Given the description of an element on the screen output the (x, y) to click on. 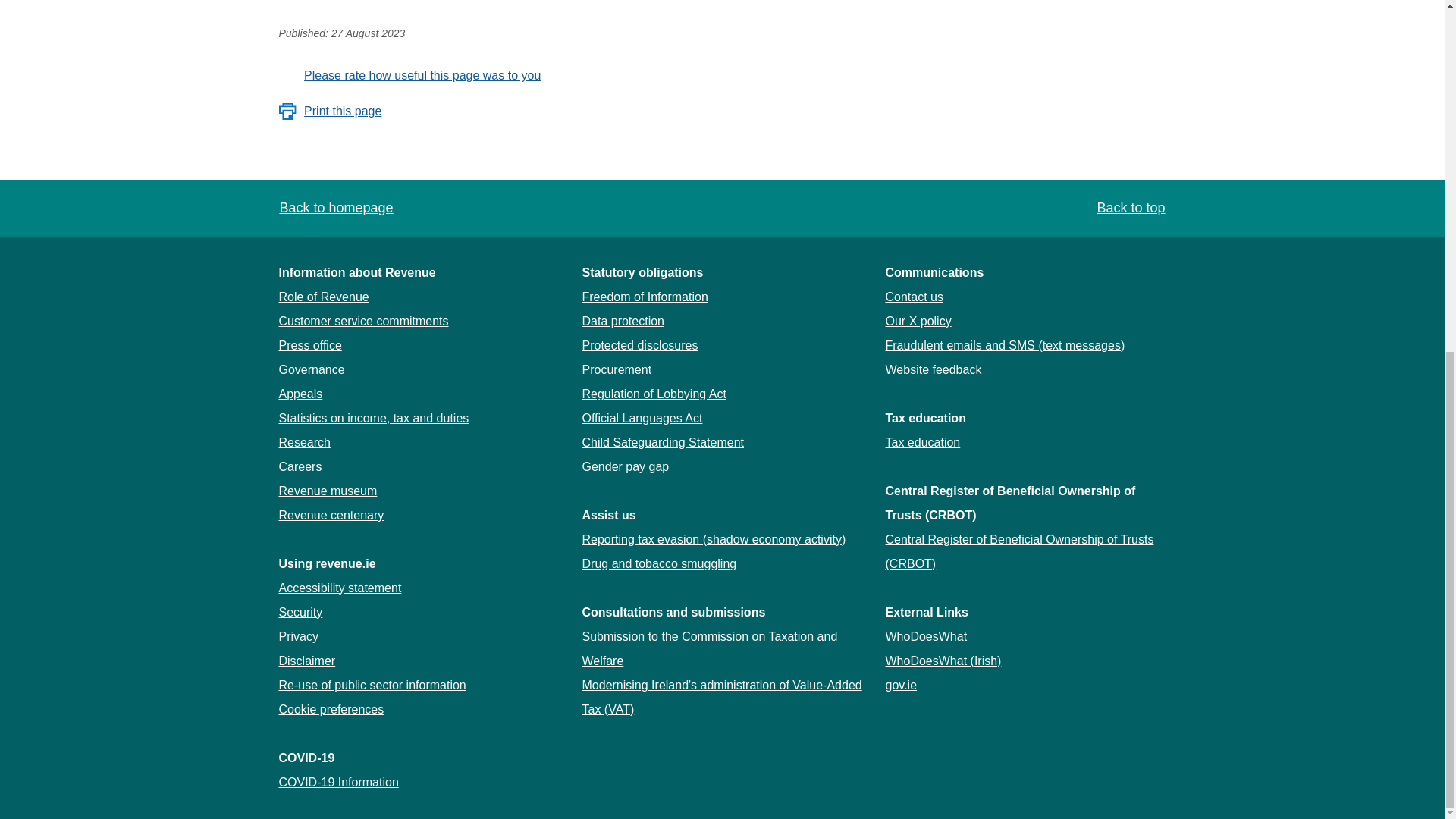
Customer service commitments (363, 319)
Customer service commitments (363, 319)
Careers (300, 465)
Revenue museum (328, 490)
Statistics on income, tax and duties (373, 417)
Security (301, 611)
Revenue centenary (331, 513)
Re-use of public sector information (372, 684)
Accessibility statement (340, 586)
Governance (312, 368)
